Given the description of an element on the screen output the (x, y) to click on. 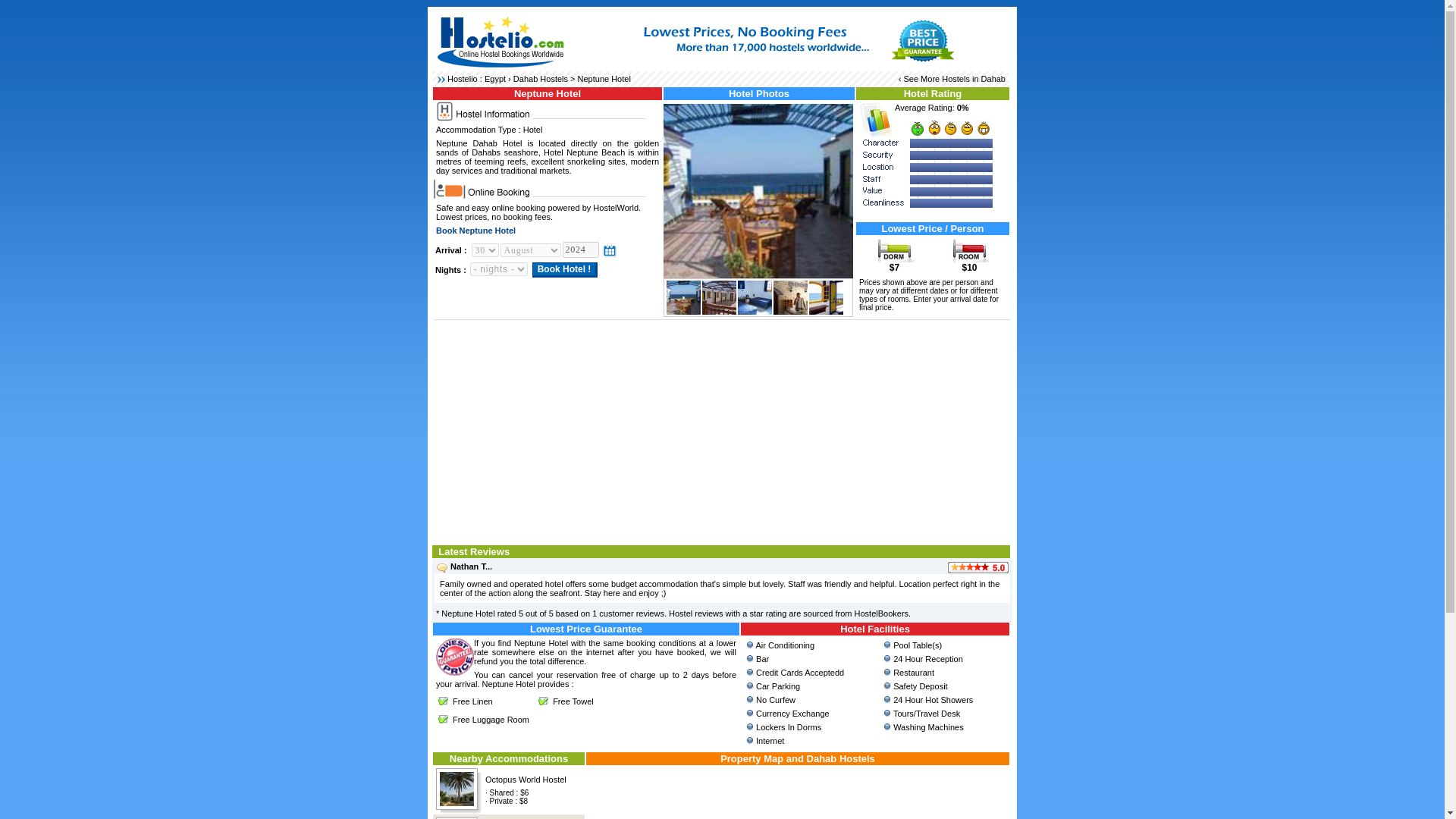
Book Hotel ! (565, 269)
Egypt (494, 78)
Dahab Hostels (540, 78)
Hostels in Dahab (974, 78)
Advertisement (721, 430)
Year (580, 249)
Octopus World Hostel (525, 778)
2024 (580, 249)
